Given the description of an element on the screen output the (x, y) to click on. 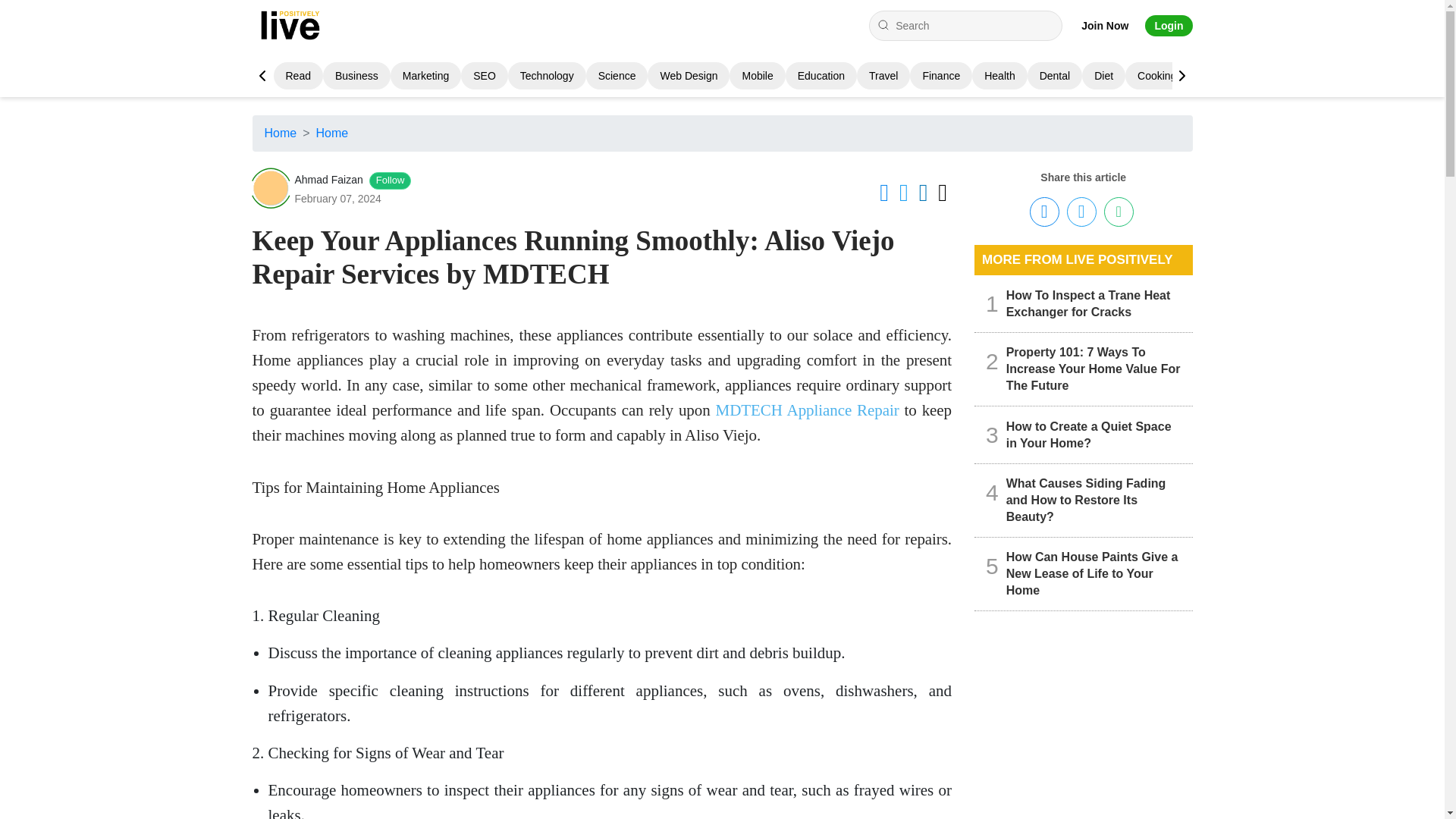
Share via Email (1118, 211)
Marketing (425, 75)
Travel (883, 75)
Web Design (688, 75)
Share via Twitter (1081, 211)
Health (999, 75)
Finance (940, 75)
Mobile (757, 75)
Join Now (1104, 25)
Education (820, 75)
Business (356, 75)
Technology (546, 75)
Diet (1103, 75)
Read (297, 75)
SEO (484, 75)
